Given the description of an element on the screen output the (x, y) to click on. 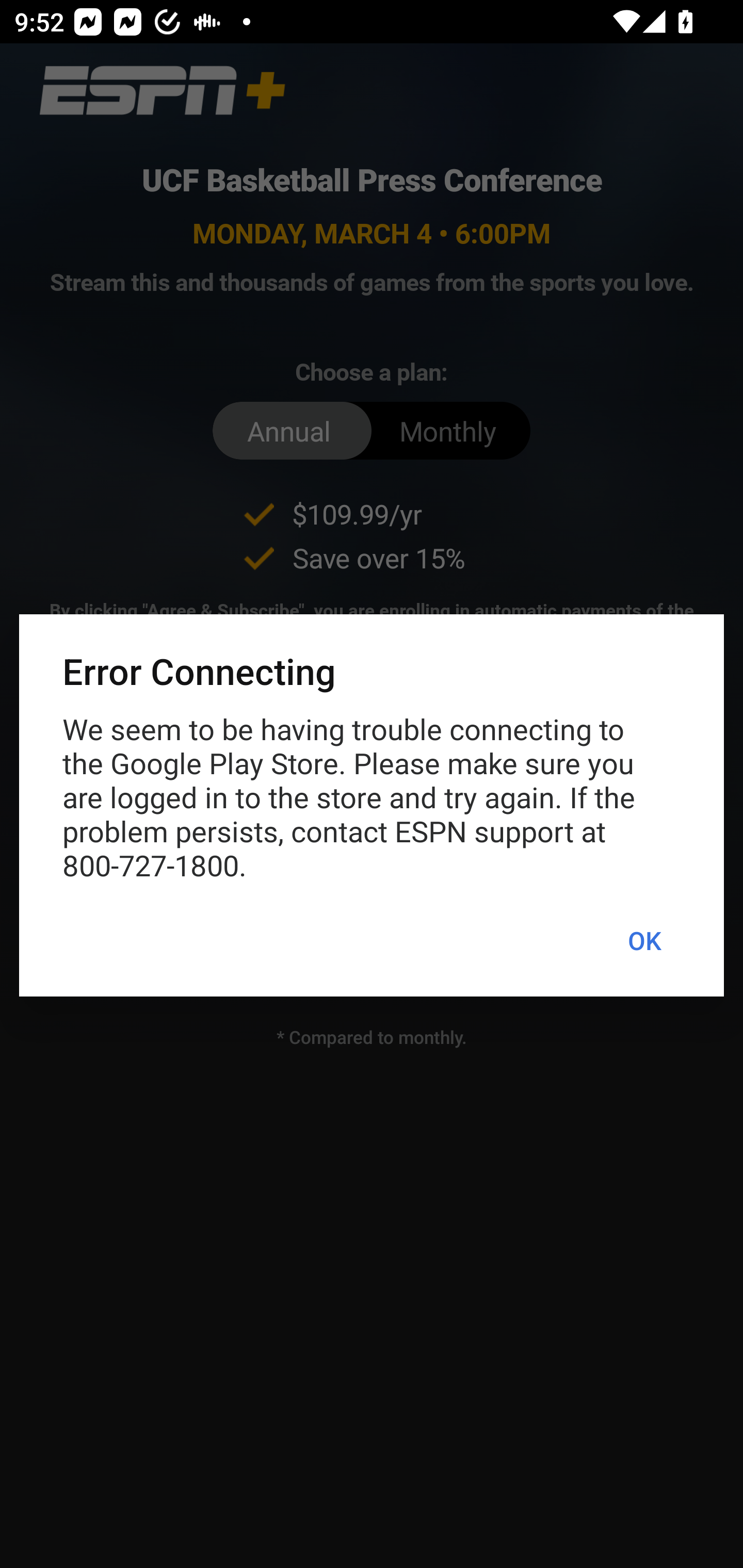
OK (644, 940)
